Given the description of an element on the screen output the (x, y) to click on. 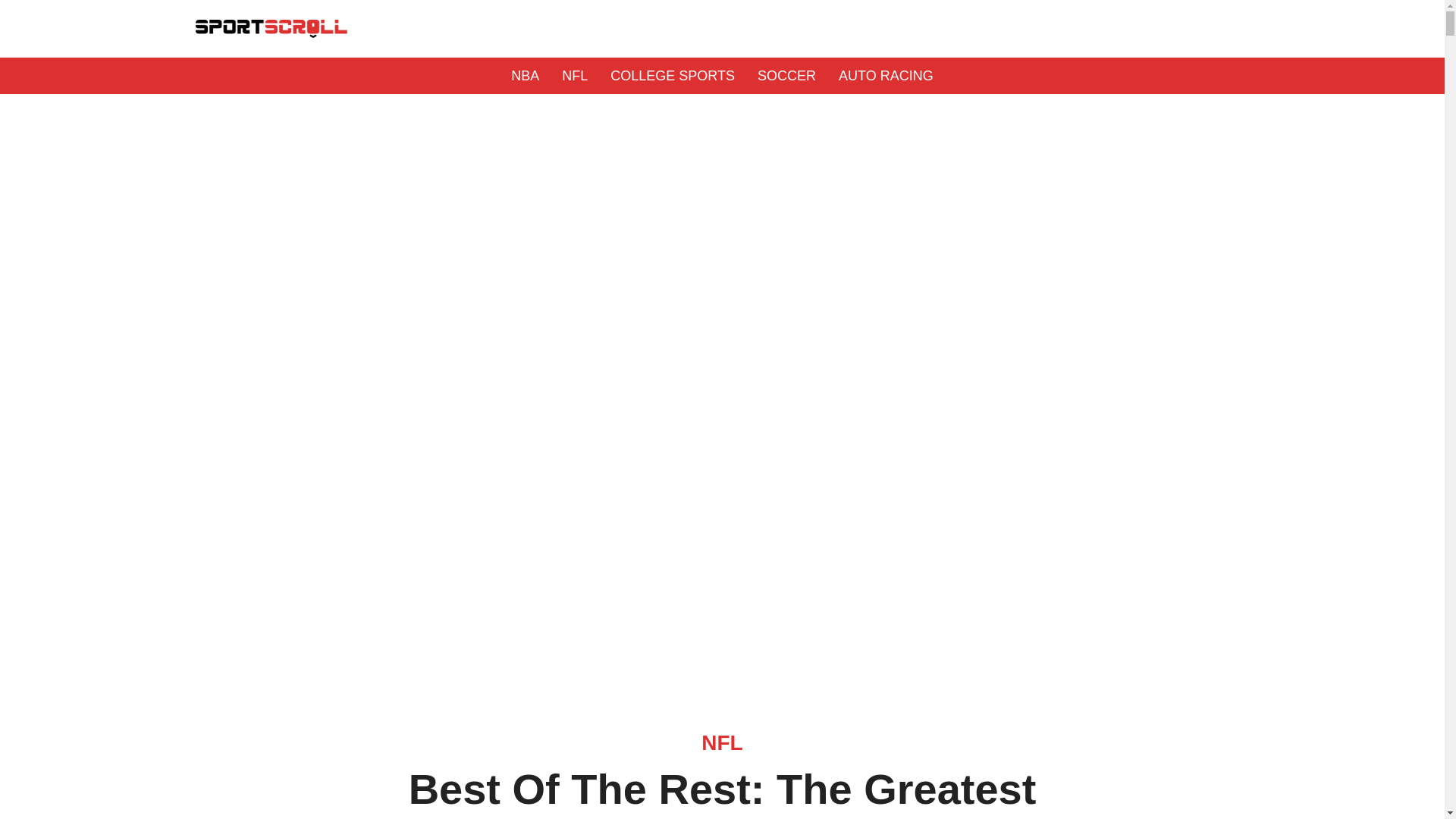
SOCCER (786, 75)
NBA (525, 75)
COLLEGE SPORTS (672, 75)
NFL (721, 742)
AUTO RACING (885, 75)
NFL (574, 75)
